Given the description of an element on the screen output the (x, y) to click on. 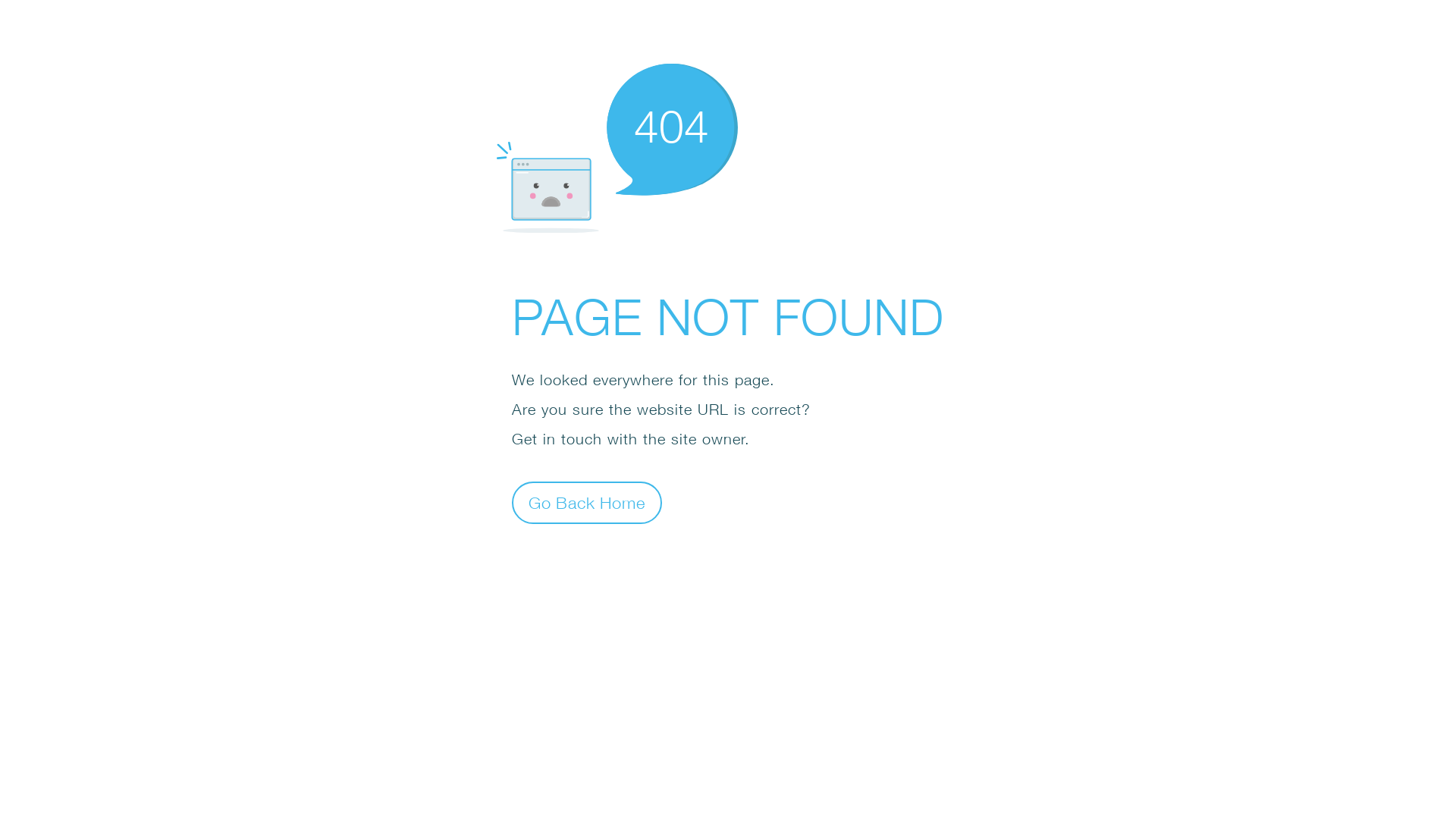
Go Back Home Element type: text (586, 502)
